Given the description of an element on the screen output the (x, y) to click on. 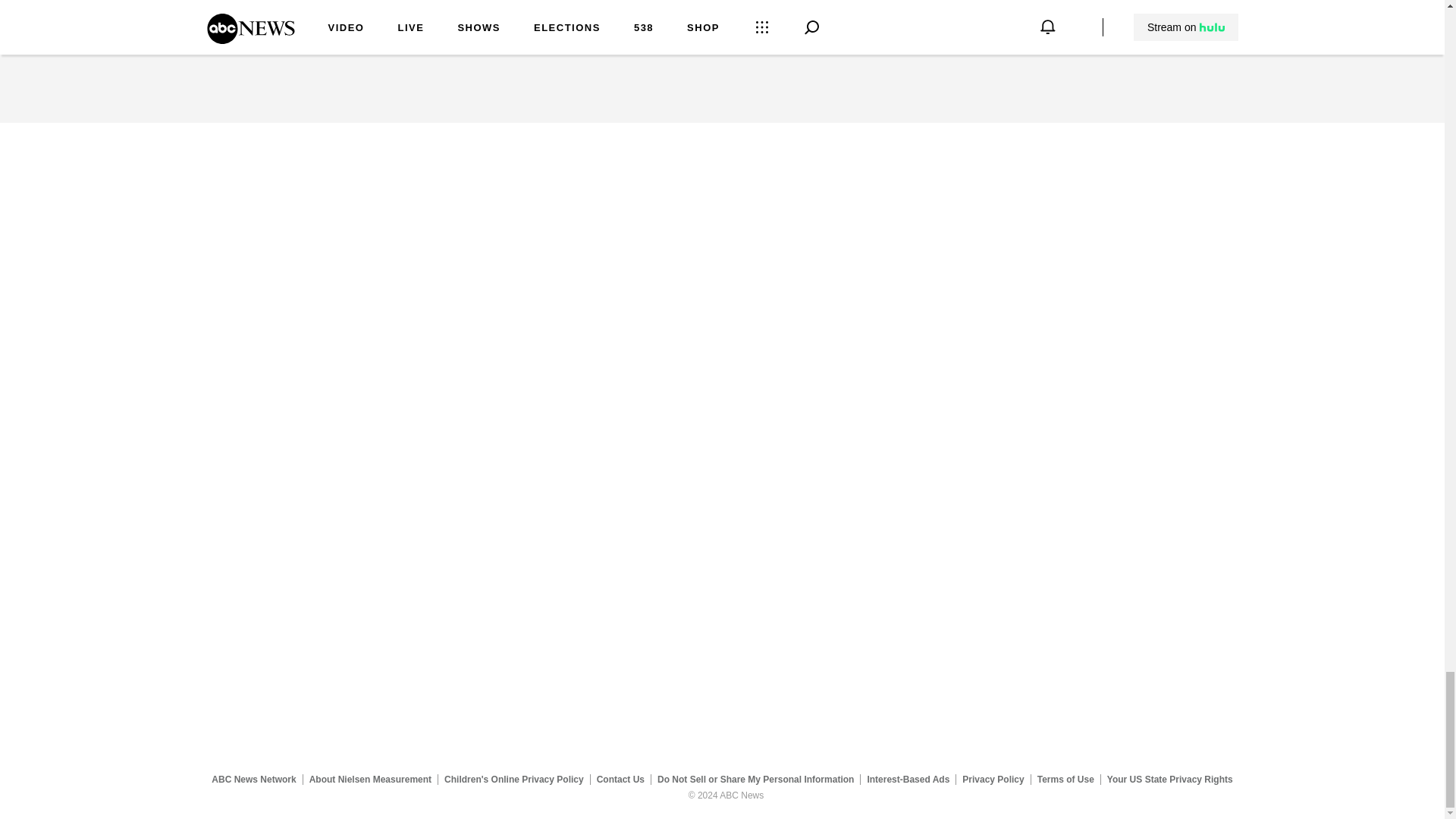
Children's Online Privacy Policy (514, 778)
ABC News Network (253, 778)
About Nielsen Measurement (370, 778)
